Given the description of an element on the screen output the (x, y) to click on. 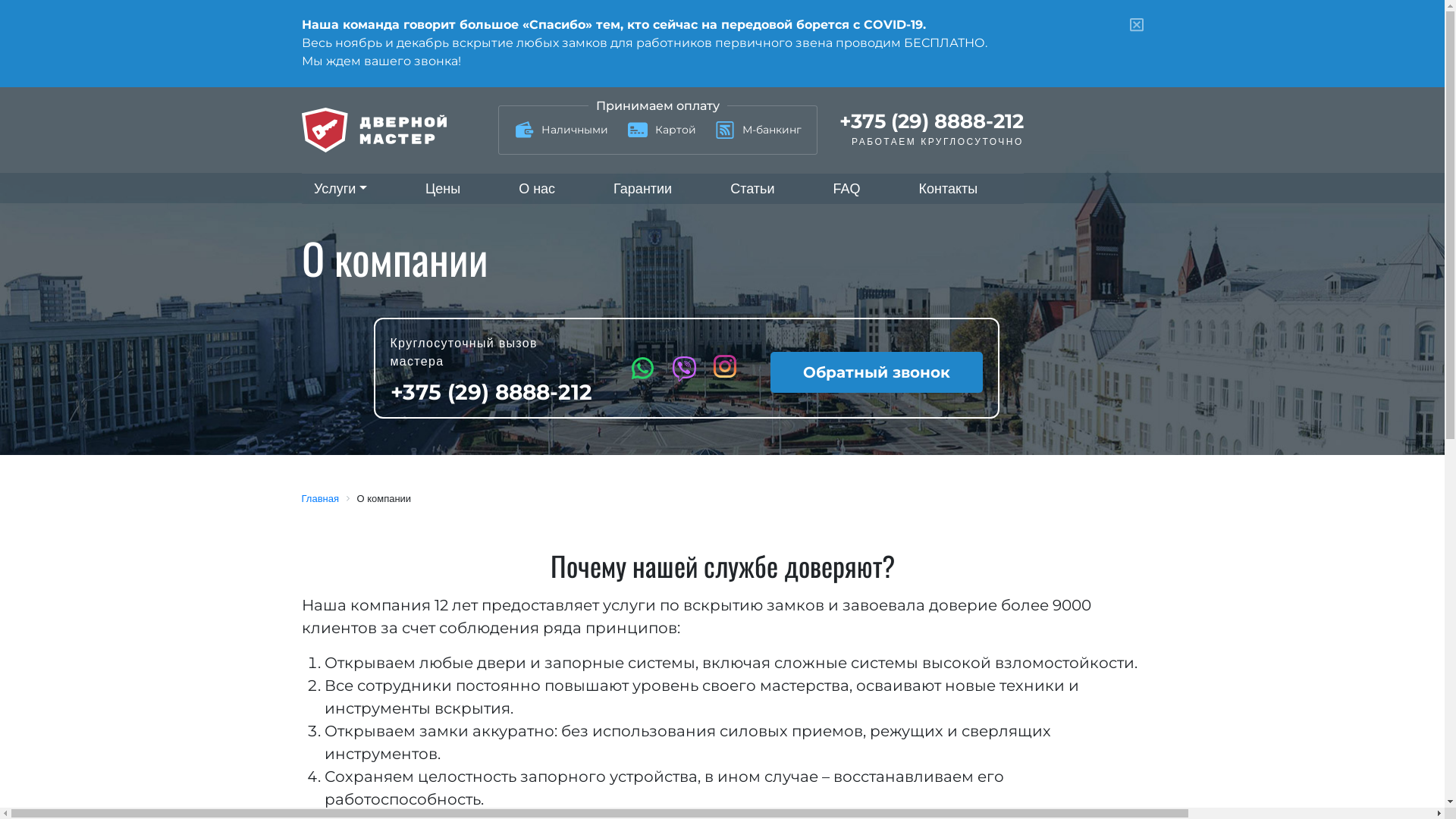
FAQ Element type: text (846, 188)
+375 (29) 8888-212 Element type: text (931, 121)
+375 (29) 8888-212 Element type: text (491, 391)
